Given the description of an element on the screen output the (x, y) to click on. 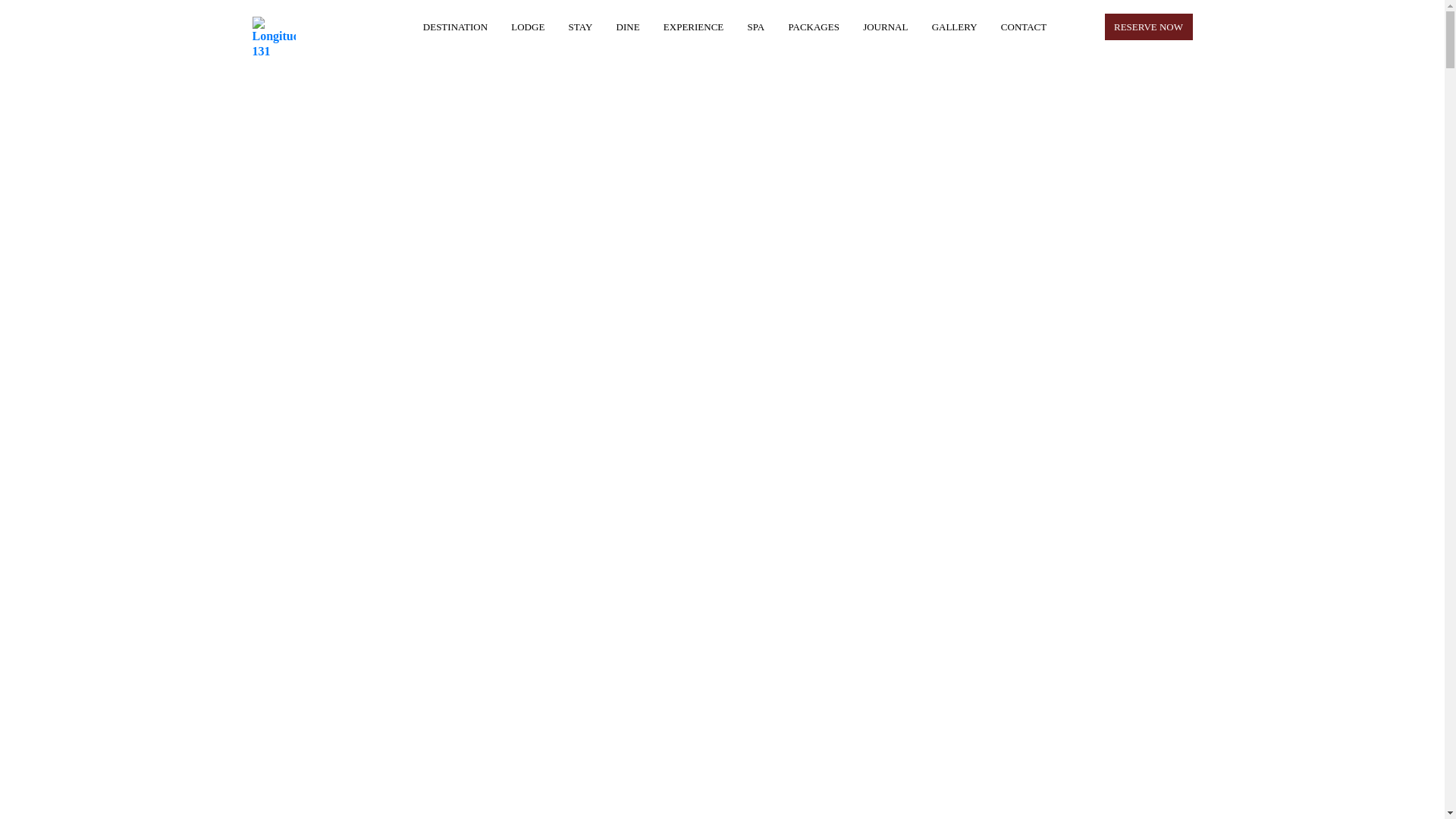
RESERVE NOW Element type: text (1148, 26)
DINE Element type: text (627, 26)
PACKAGES Element type: text (813, 26)
DESTINATION Element type: text (455, 26)
STAY Element type: text (580, 26)
LODGE Element type: text (527, 26)
CONTACT Element type: text (1023, 26)
JOURNAL Element type: text (885, 26)
GALLERY Element type: text (954, 26)
SPA Element type: text (756, 26)
EXPERIENCE Element type: text (693, 26)
